Given the description of an element on the screen output the (x, y) to click on. 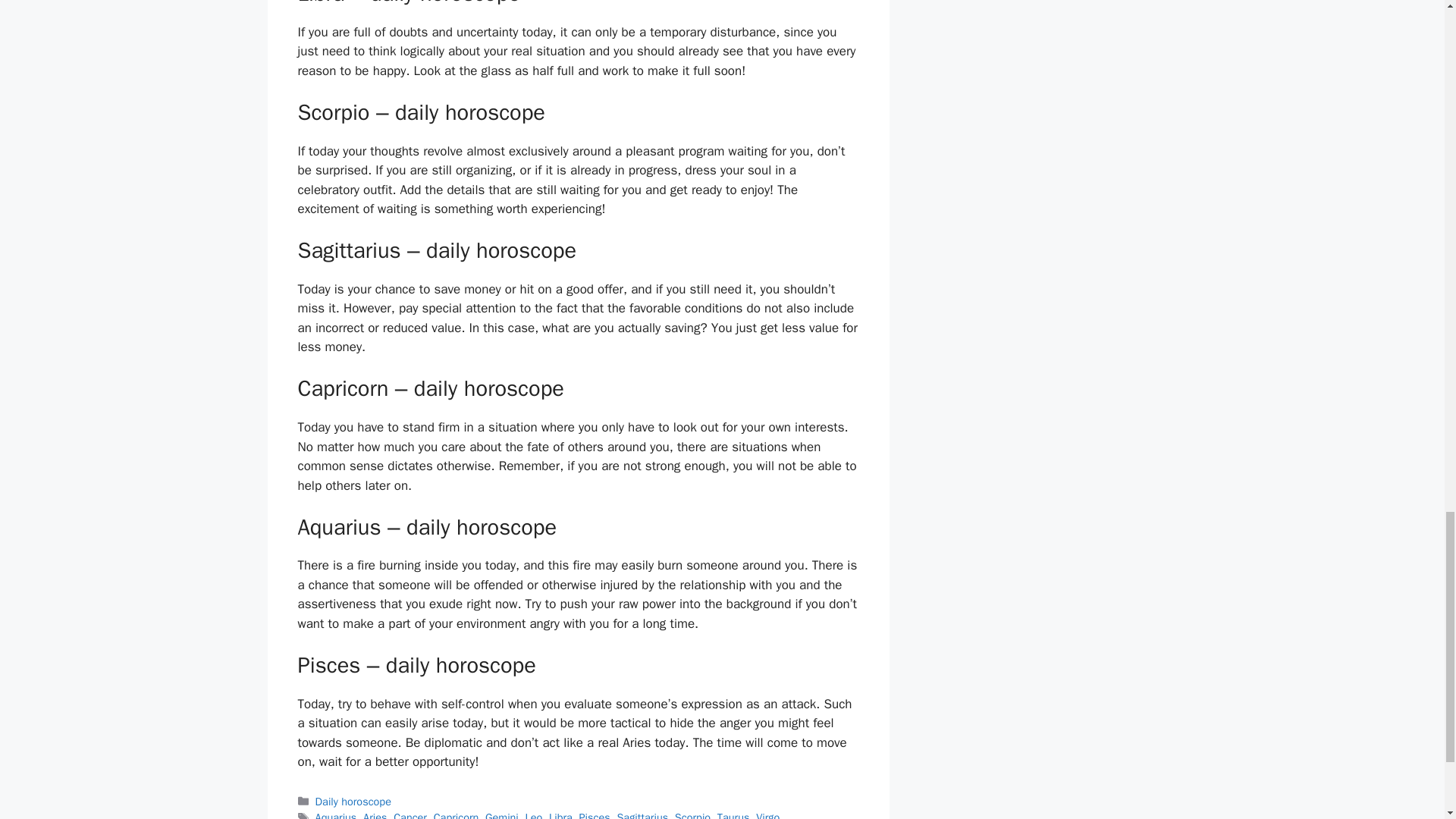
Aries (374, 814)
Aquarius (335, 814)
Capricorn (456, 814)
Gemini (501, 814)
Pisces (594, 814)
Scorpio (692, 814)
Leo (532, 814)
Taurus (733, 814)
Daily horoscope (353, 801)
Sagittarius (641, 814)
